Given the description of an element on the screen output the (x, y) to click on. 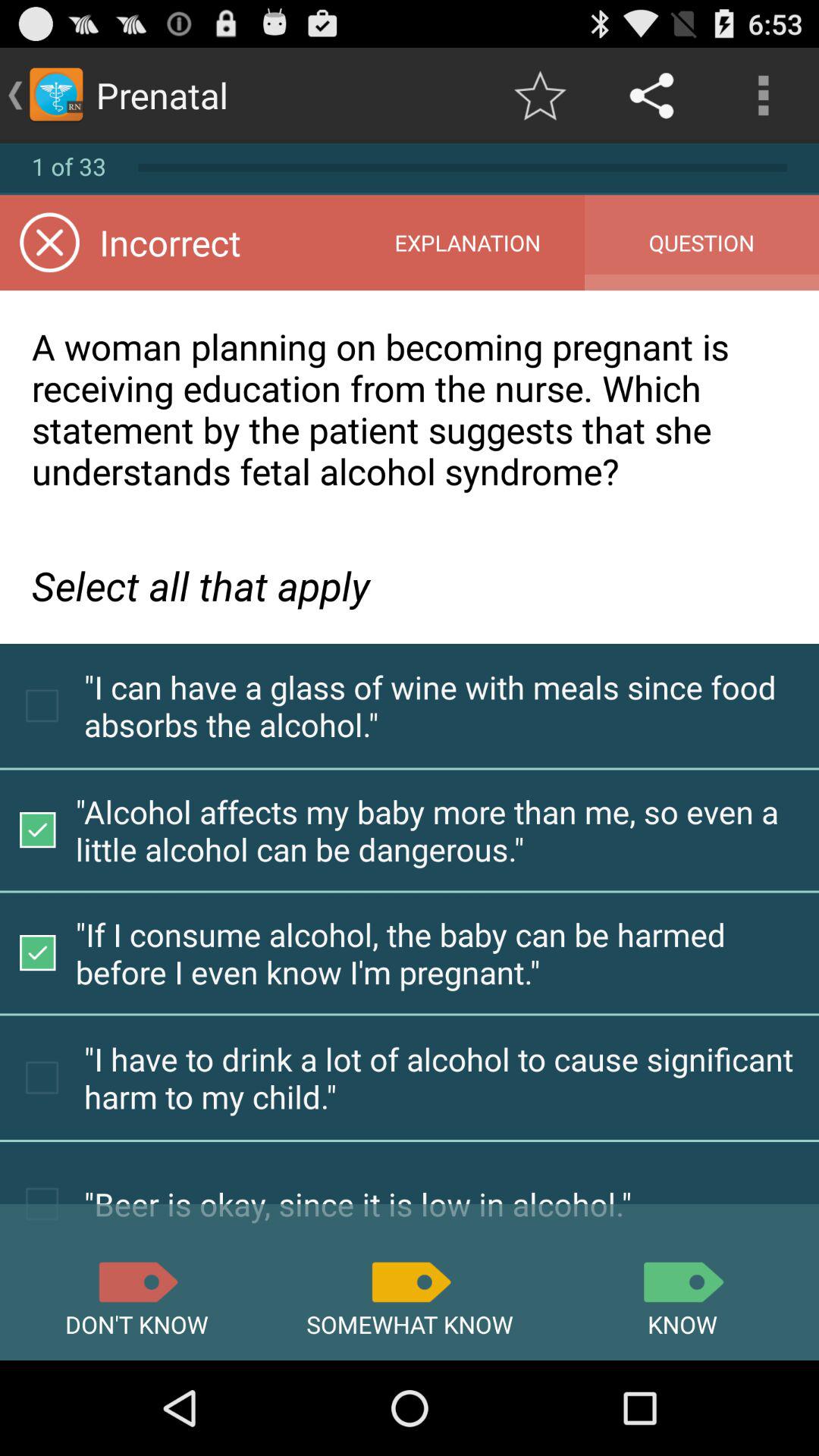
do n't know (136, 1281)
